Given the description of an element on the screen output the (x, y) to click on. 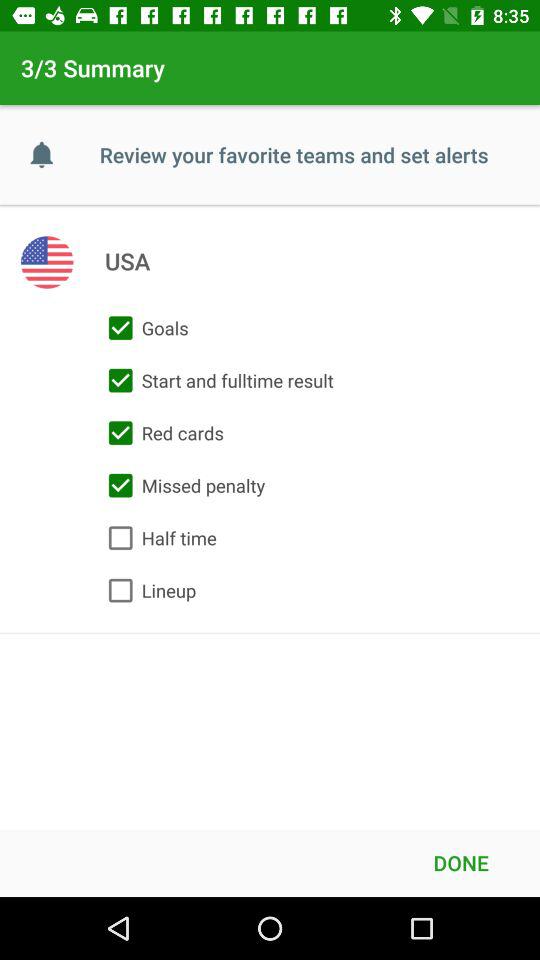
click icon above the half time icon (182, 485)
